Given the description of an element on the screen output the (x, y) to click on. 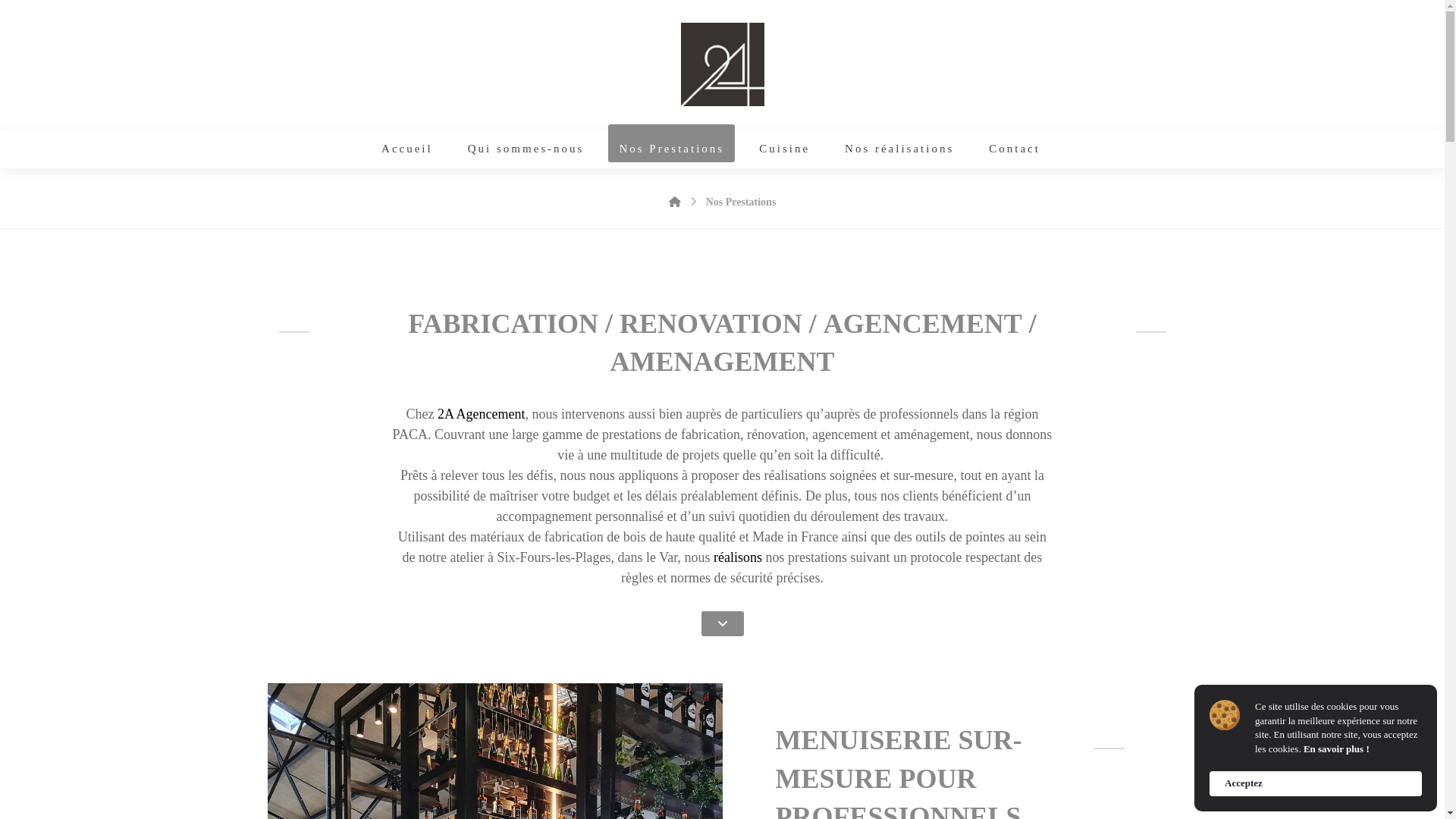
Cuisine Element type: text (784, 148)
MENUISERIE SUR-MESURE DANS LA REGION PACA Element type: hover (722, 64)
Home page Element type: hover (674, 201)
Contact Element type: text (1014, 148)
En savoir plus ! Element type: text (1336, 749)
Nos Prestations Element type: text (741, 201)
2A Agencement Element type: text (480, 413)
Accueil Element type: text (406, 148)
Qui sommes-nous Element type: text (526, 148)
Nos Prestations Element type: text (671, 148)
